Given the description of an element on the screen output the (x, y) to click on. 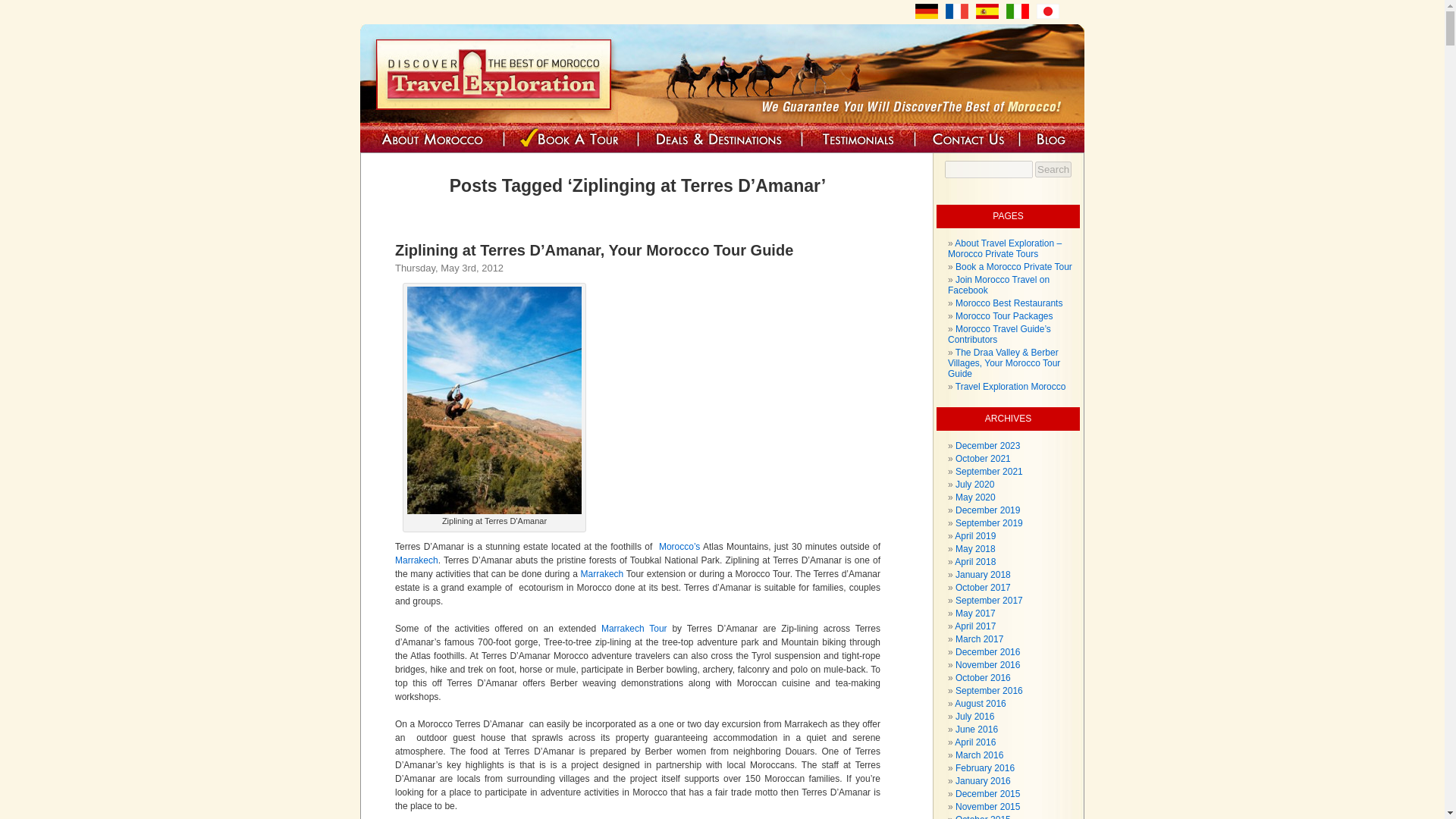
Marrakech (602, 573)
Marrakech Tour (633, 628)
Marrakech (416, 560)
